Given the description of an element on the screen output the (x, y) to click on. 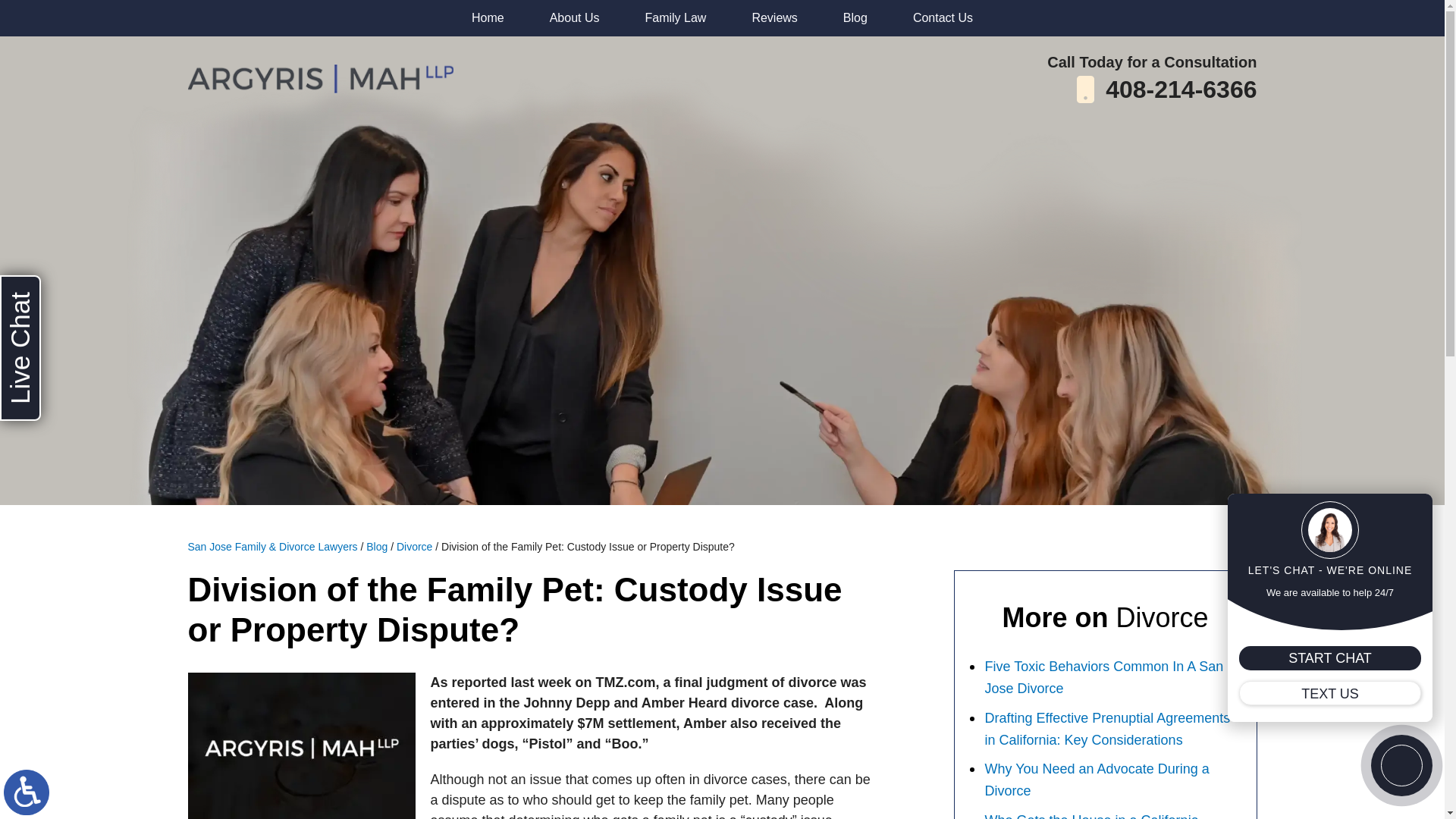
About Us (575, 18)
Family Law (675, 18)
Home (487, 18)
Switch to ADA Accessible Theme (26, 791)
default image (300, 745)
